Given the description of an element on the screen output the (x, y) to click on. 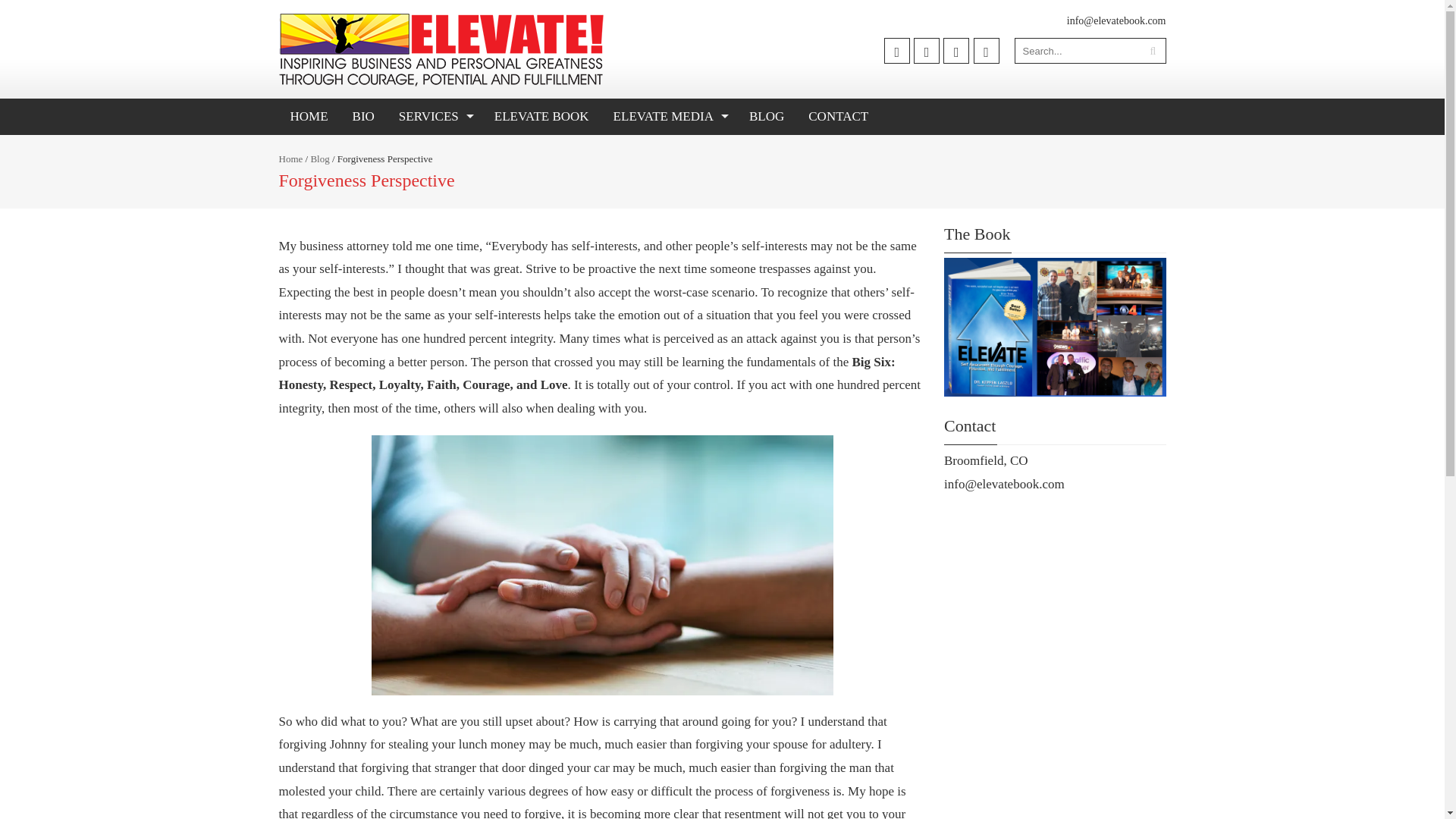
BLOG (766, 116)
ELEVATE BOOK (541, 116)
SERVICES (434, 116)
BIO (362, 116)
ELEVATE MEDIA (669, 116)
CONTACT (837, 116)
HOME (309, 116)
Broomfield, CO (985, 460)
Home (290, 158)
Blog (319, 158)
